Given the description of an element on the screen output the (x, y) to click on. 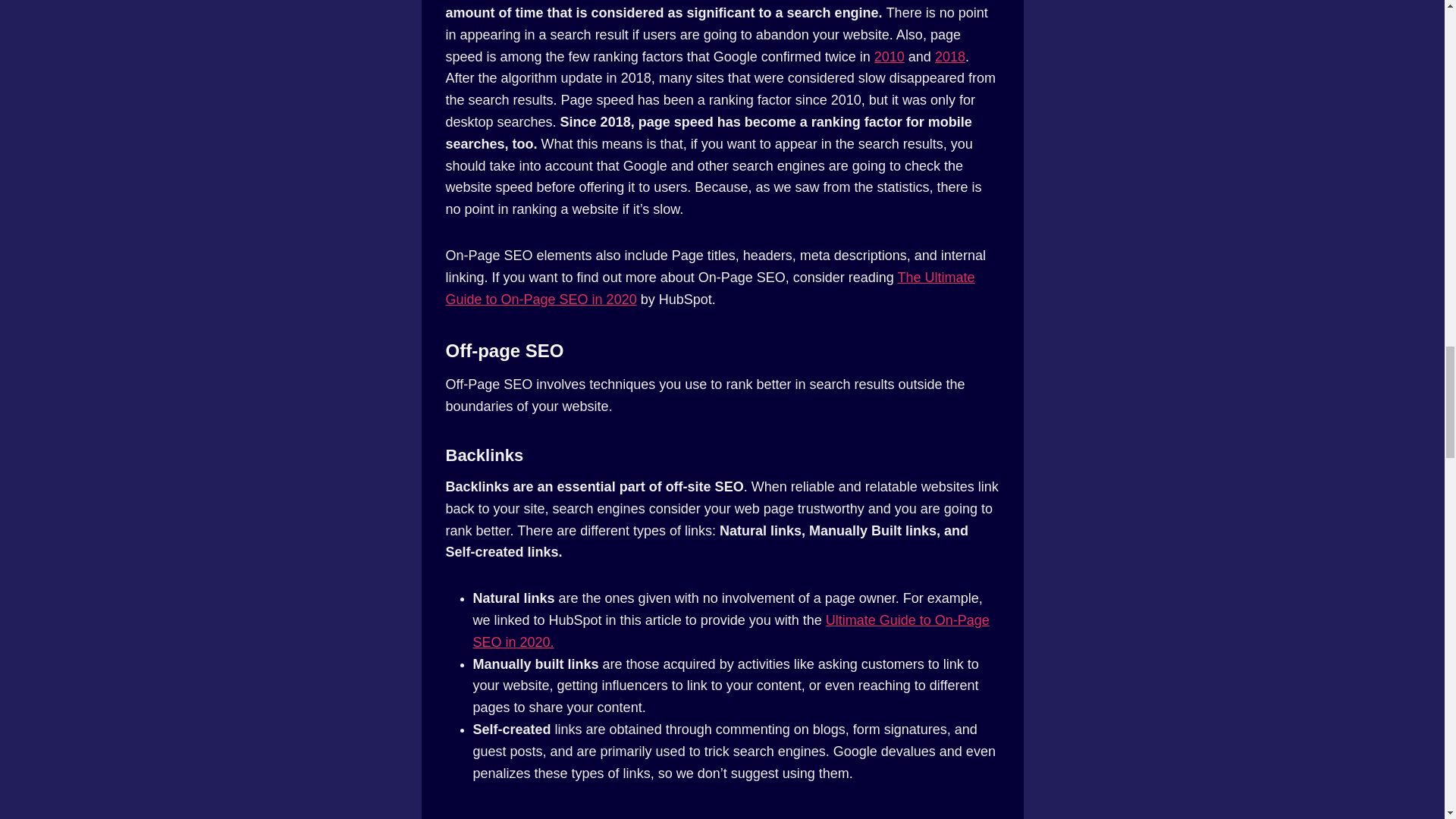
Ultimate Guide to On-Page SEO in 2020. (731, 631)
The Ultimate Guide to On-Page SEO in 2020 (710, 288)
2010 (889, 56)
2018 (949, 56)
